Given the description of an element on the screen output the (x, y) to click on. 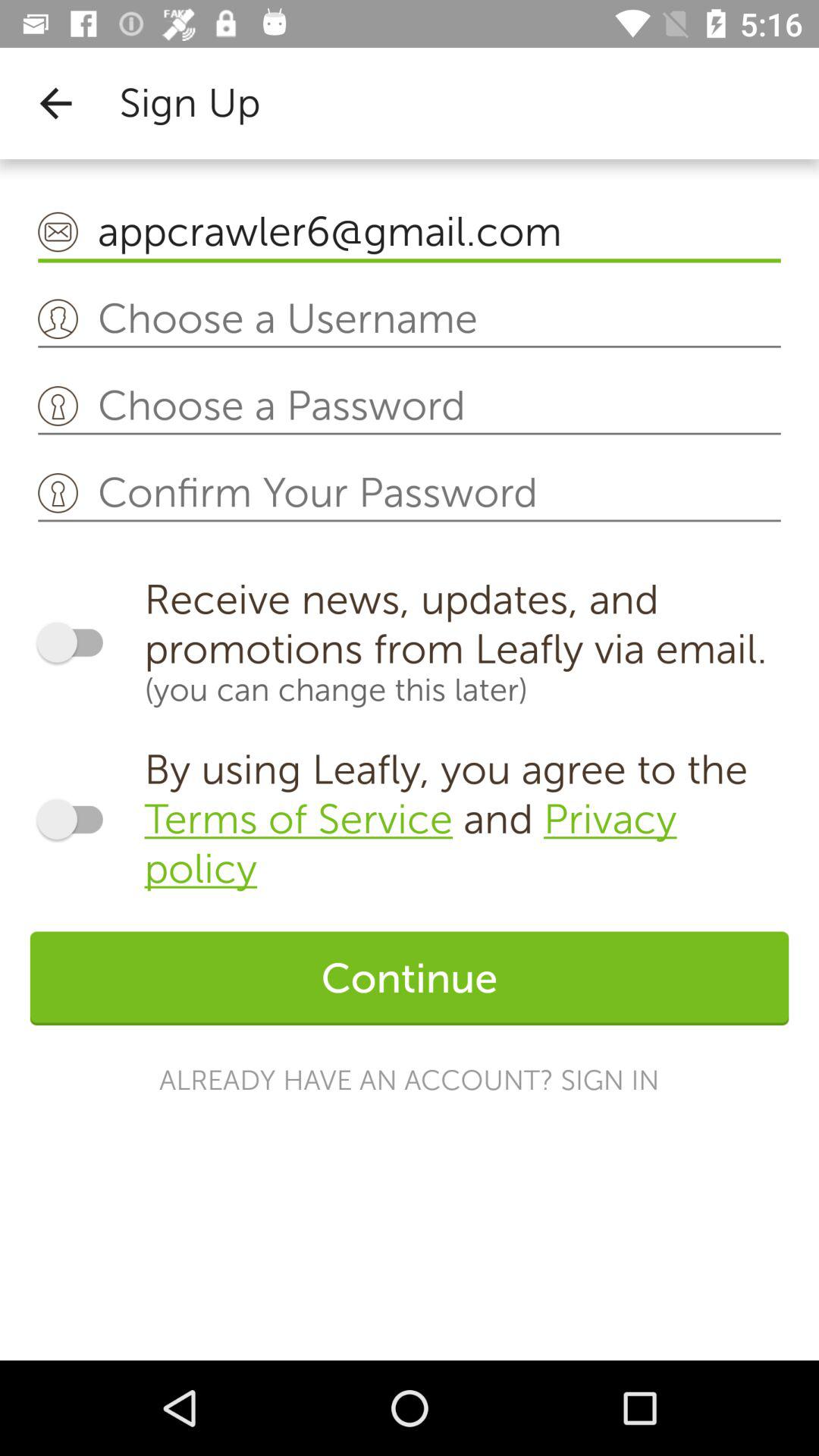
tap icon below you can change icon (466, 819)
